Given the description of an element on the screen output the (x, y) to click on. 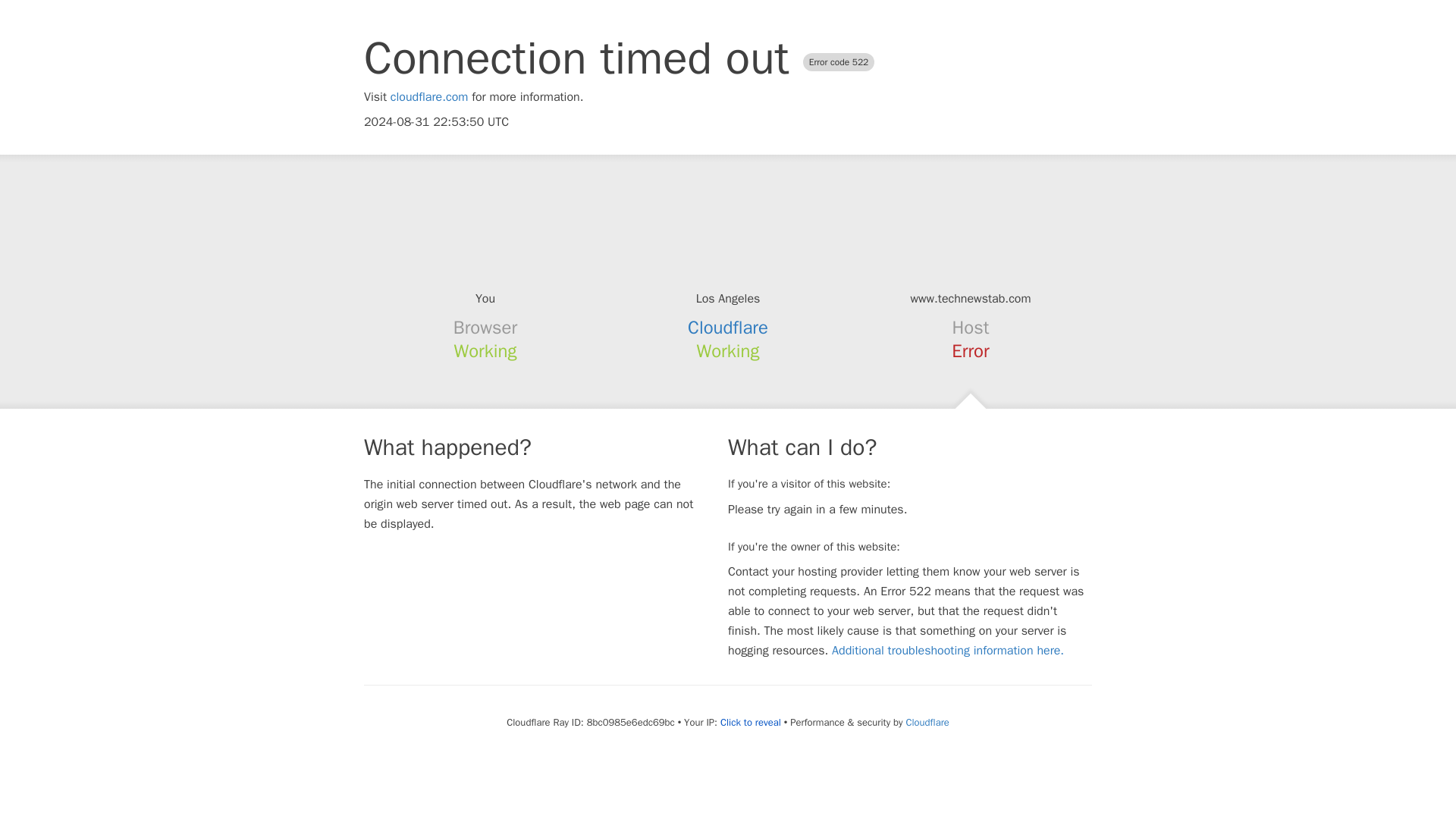
Additional troubleshooting information here. (947, 650)
Cloudflare (727, 327)
Click to reveal (750, 722)
cloudflare.com (429, 96)
Cloudflare (927, 721)
